Given the description of an element on the screen output the (x, y) to click on. 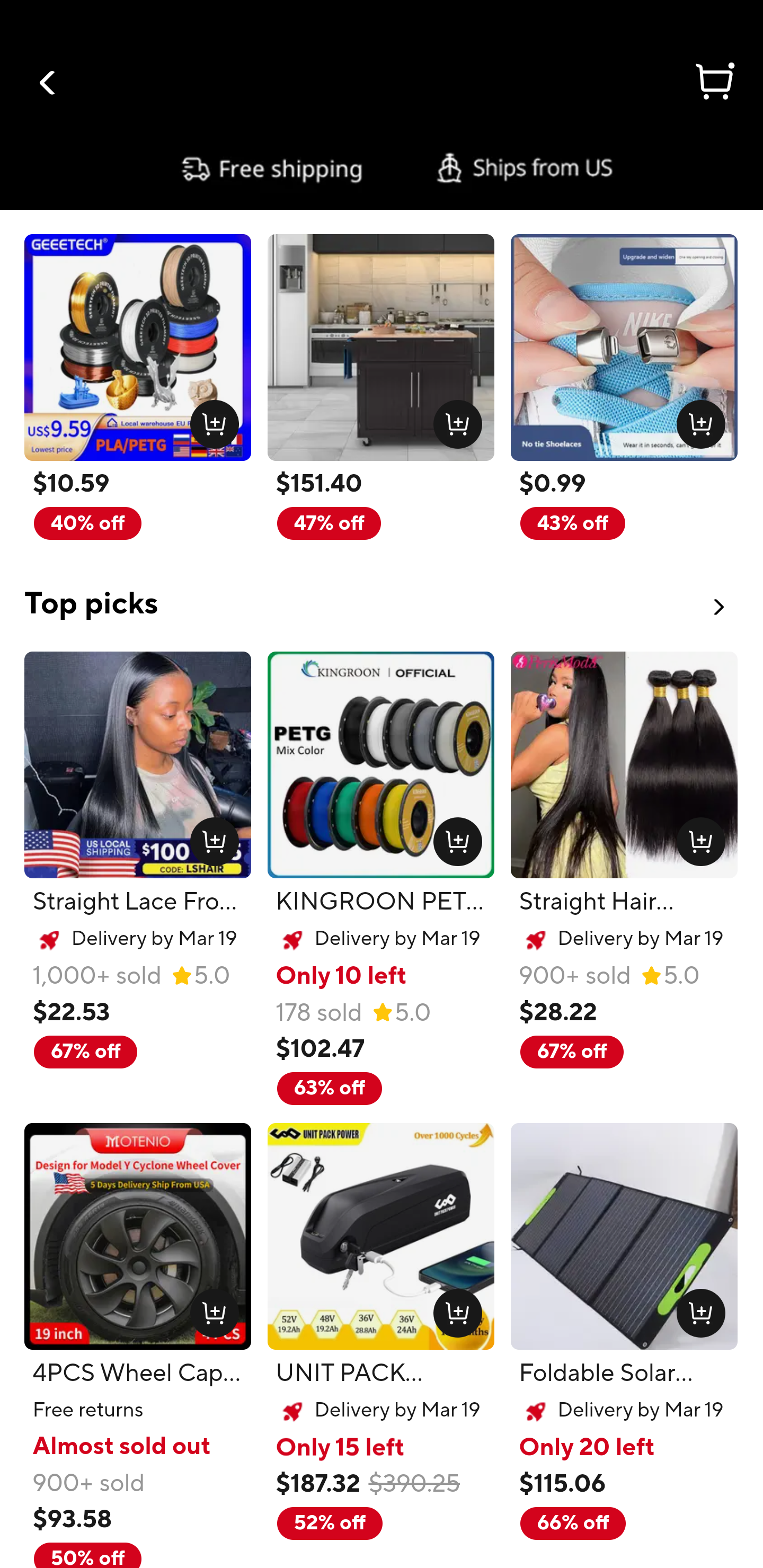
 (48, 82)
𓟄 (713, 83)
c3QEEjteiC&spm=a1z65.tm1000004905.1841234120 (381, 168)
128x128.png_ (210, 418)
128x128.png_ (453, 418)
128x128.png_ (695, 418)
Top picks  Top picks (381, 592)
128x128.png_ (210, 837)
128x128.png_ (453, 837)
128x128.png_ (695, 837)
128x128.png_ (210, 1309)
128x128.png_ (453, 1309)
128x128.png_ (695, 1309)
